Given the description of an element on the screen output the (x, y) to click on. 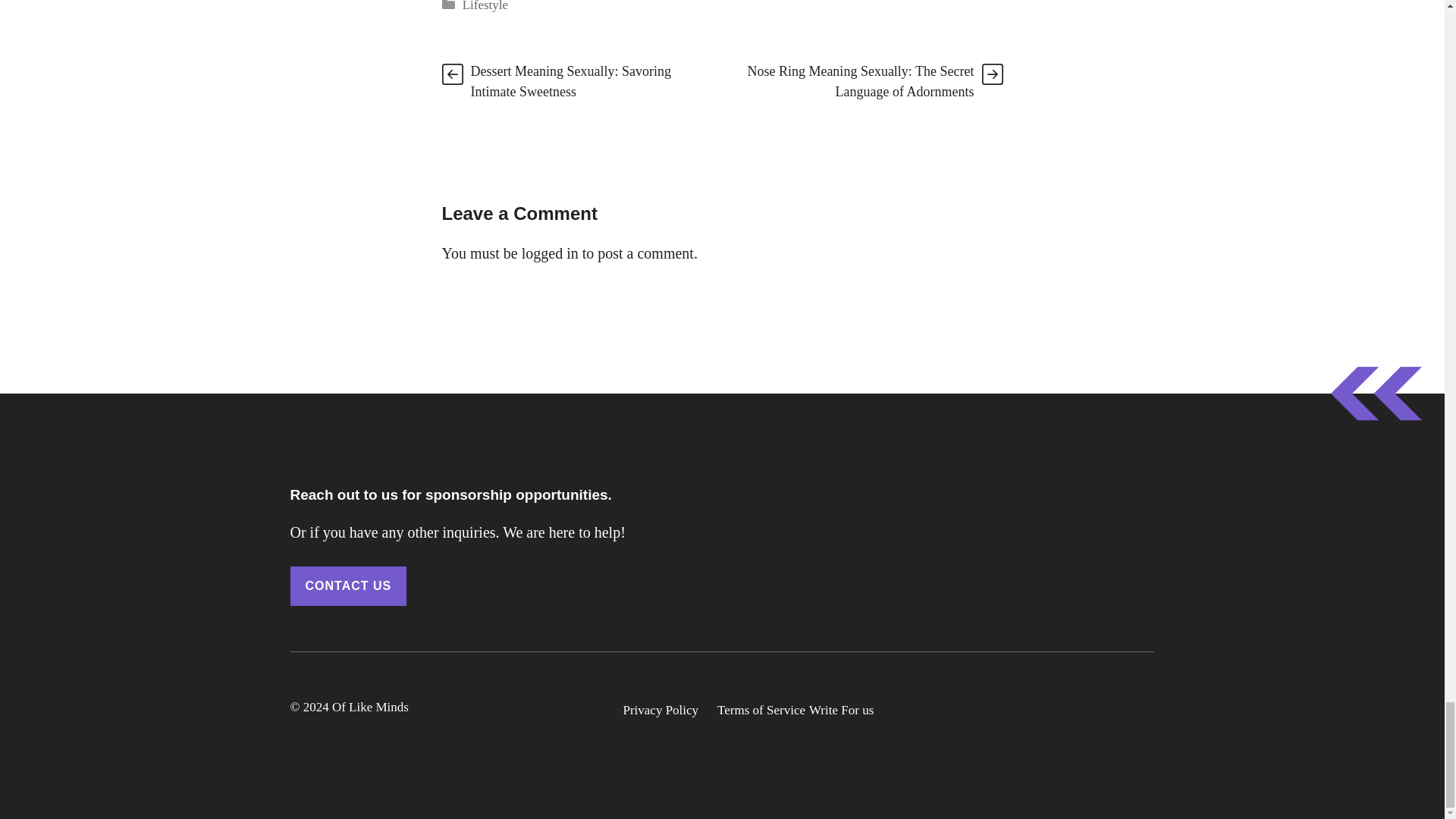
Dessert Meaning Sexually: Savoring Intimate Sweetness (569, 81)
Lifestyle (485, 6)
